Given the description of an element on the screen output the (x, y) to click on. 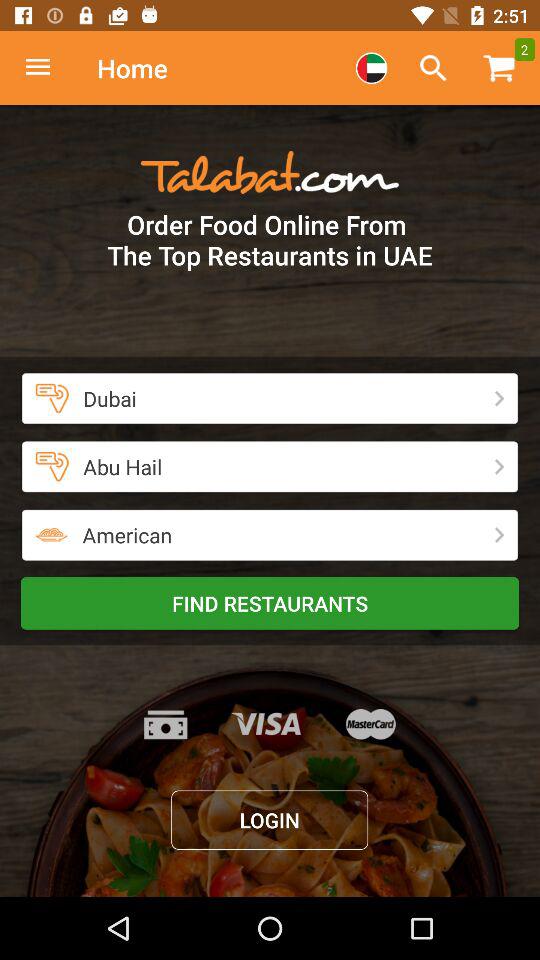
toggle keyword search option (433, 68)
